Given the description of an element on the screen output the (x, y) to click on. 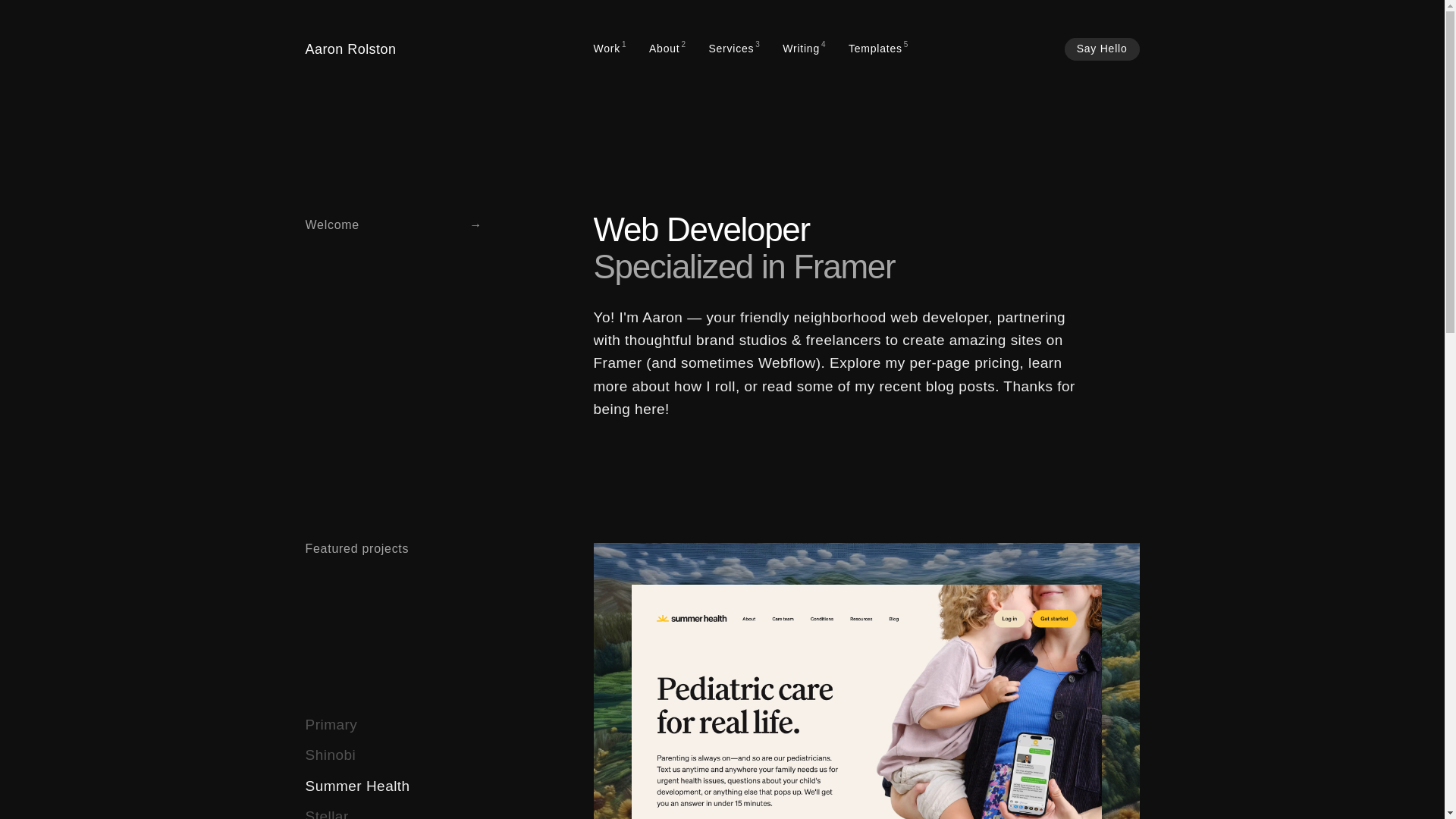
Say Hello (733, 48)
Aaron Rolston (878, 48)
